Given the description of an element on the screen output the (x, y) to click on. 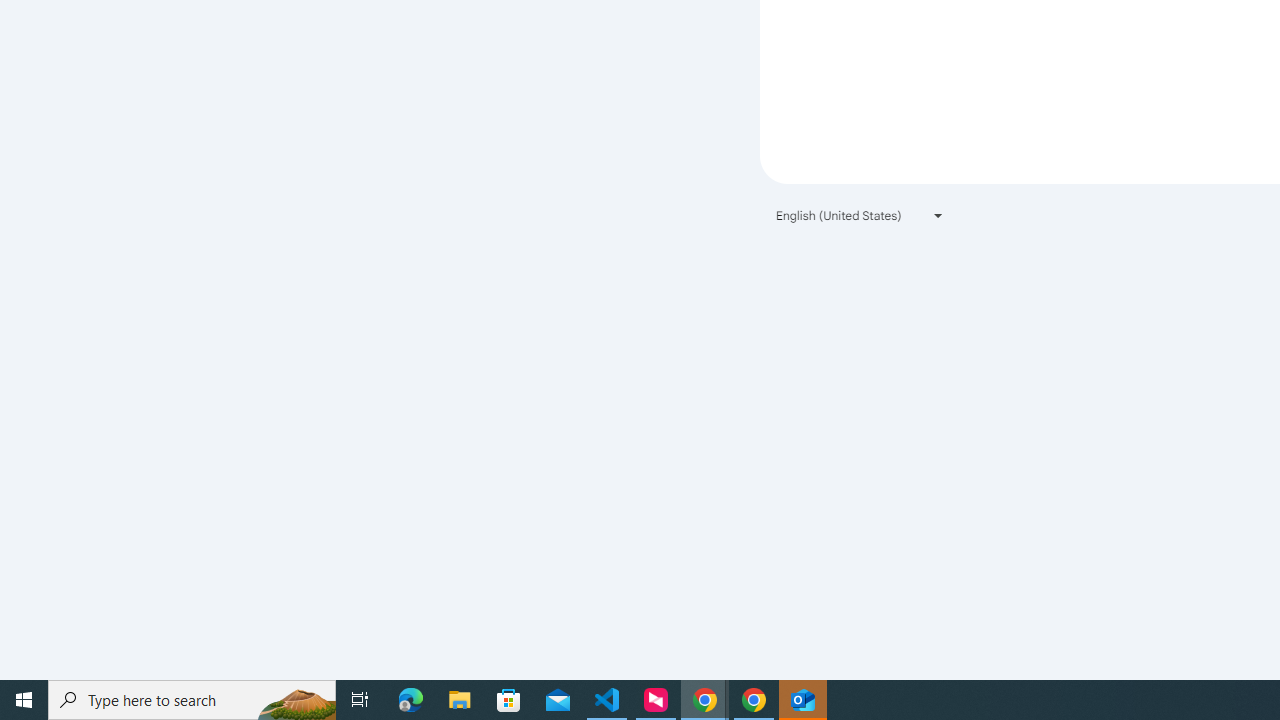
English (United States) (860, 214)
